Given the description of an element on the screen output the (x, y) to click on. 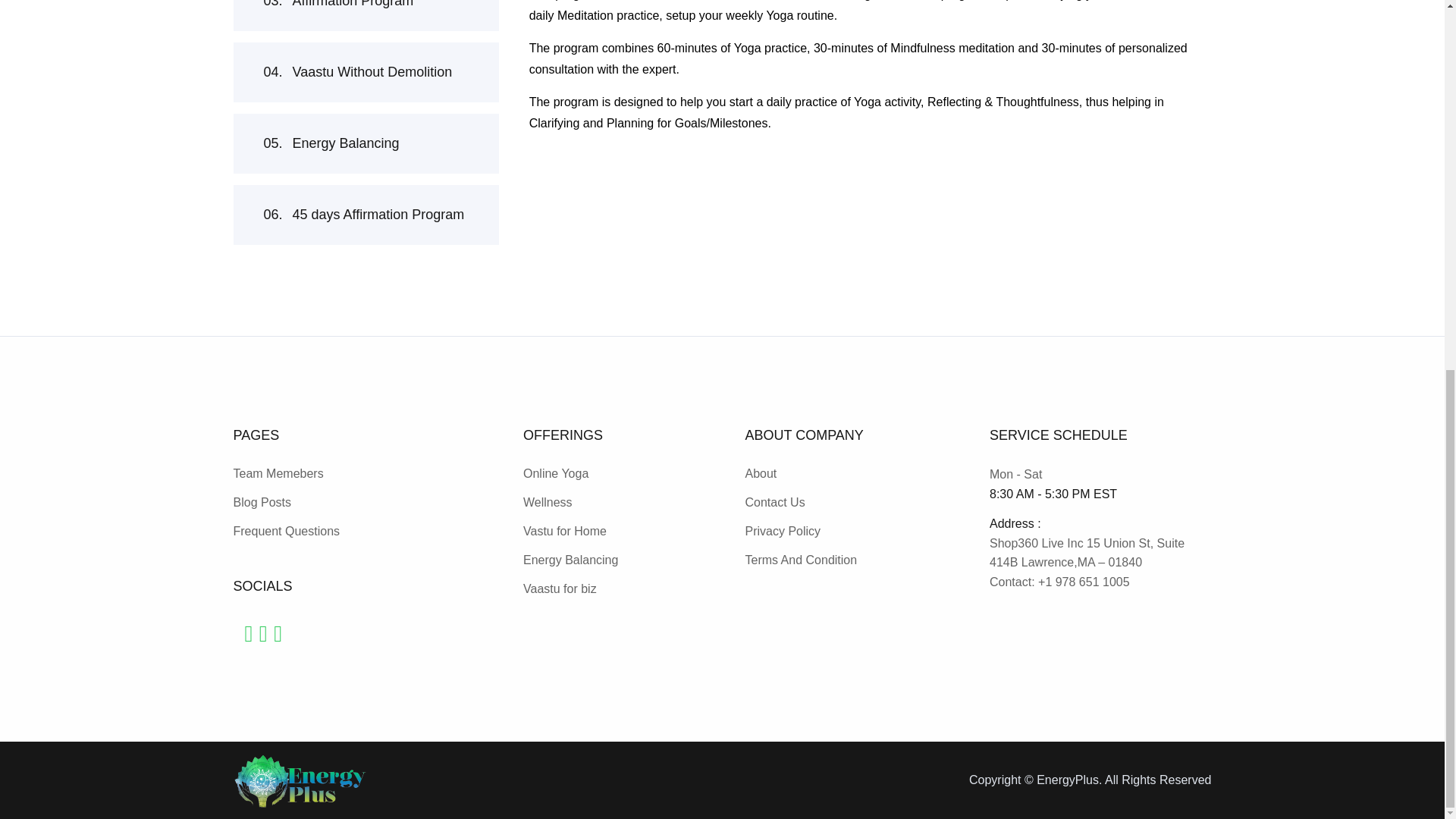
Wellness (547, 502)
Blog Posts (365, 42)
Privacy Policy (261, 502)
Frequent Questions (782, 530)
Energy Balancing (365, 184)
Team Memebers (286, 530)
Vaastu for biz (569, 559)
Vastu for Home (277, 472)
